Given the description of an element on the screen output the (x, y) to click on. 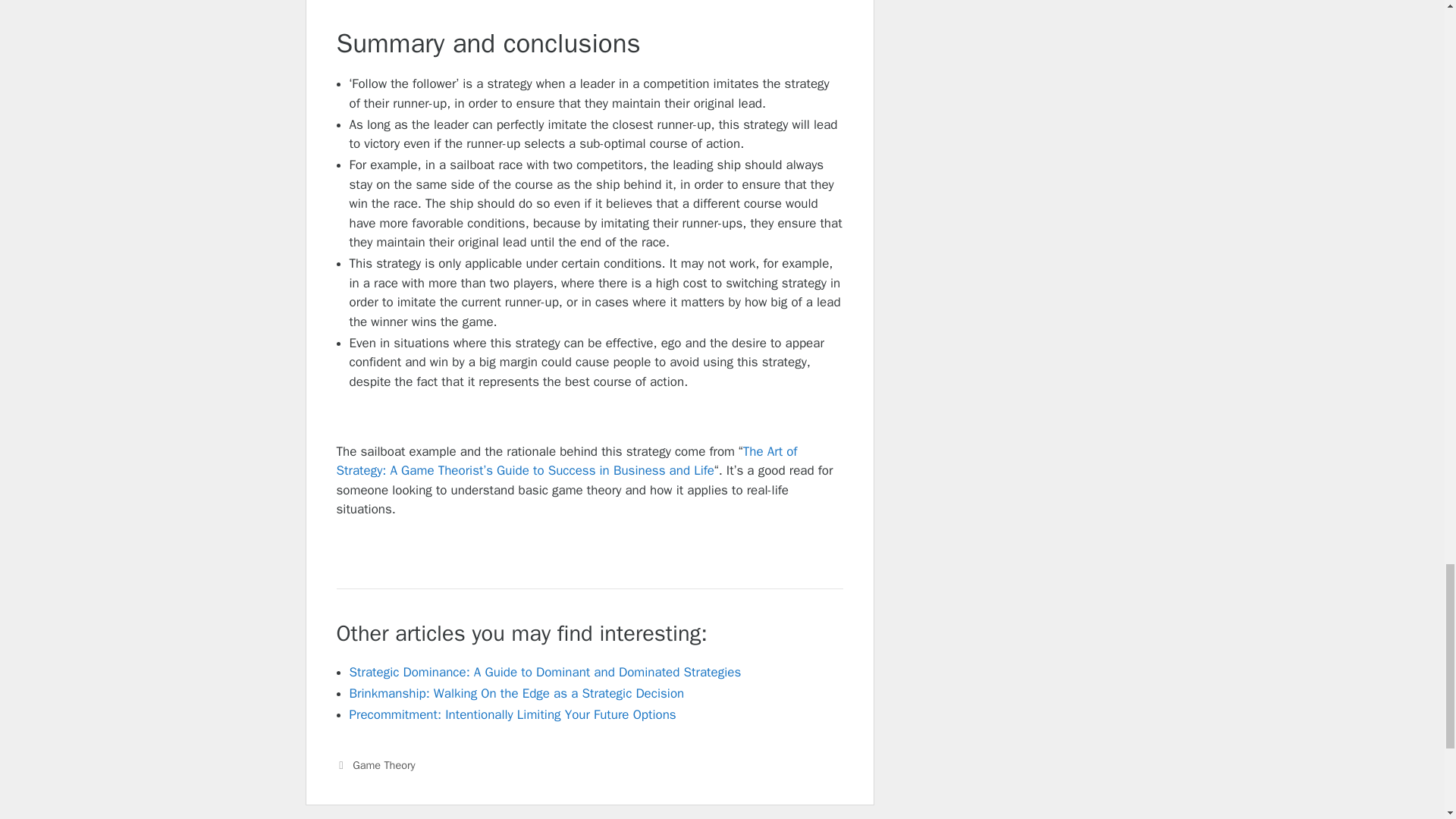
Game Theory (383, 765)
Brinkmanship: Walking On the Edge as a Strategic Decision (516, 693)
Precommitment: Intentionally Limiting Your Future Options (512, 714)
